Given the description of an element on the screen output the (x, y) to click on. 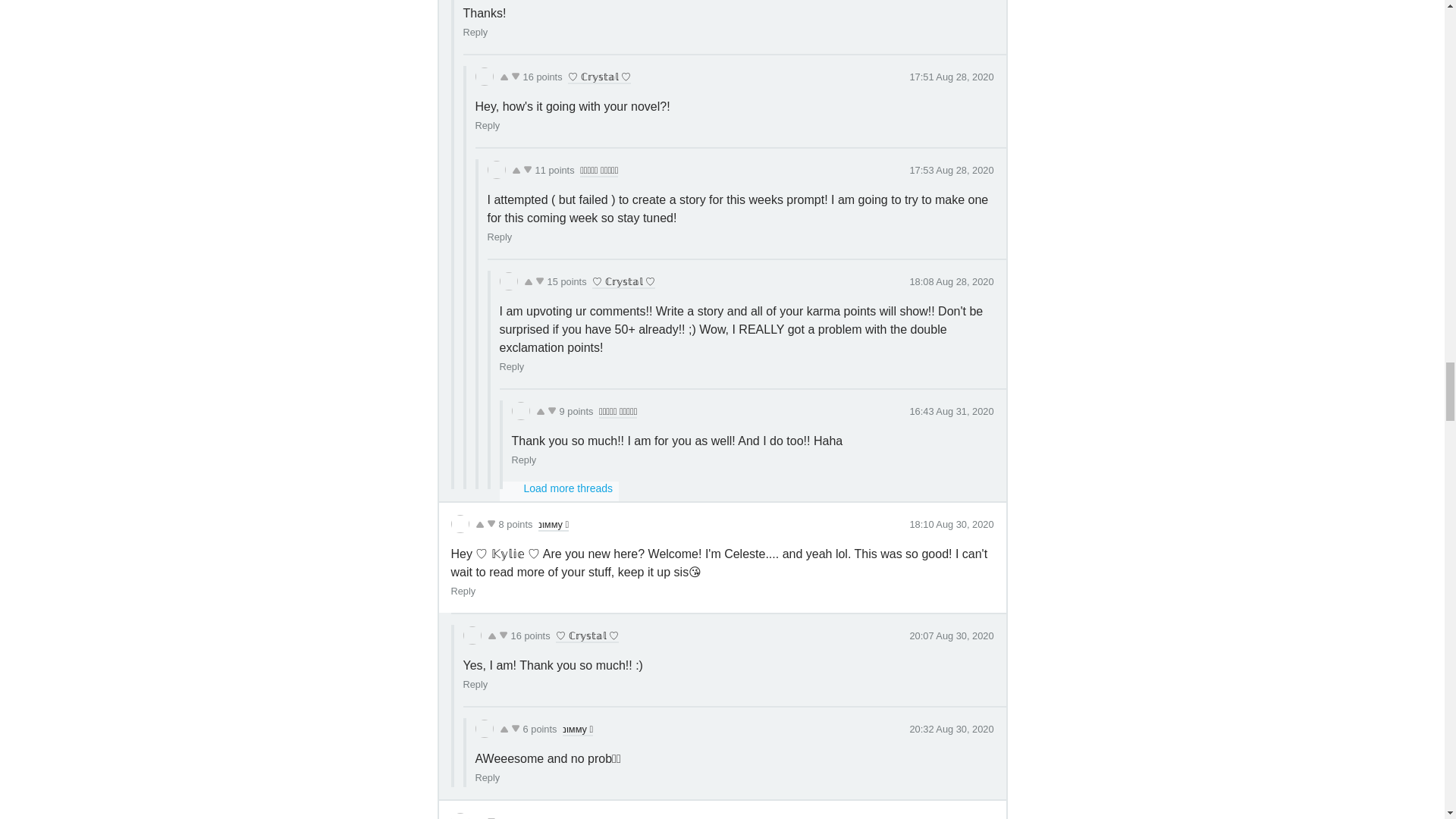
Load more threads (558, 491)
